Given the description of an element on the screen output the (x, y) to click on. 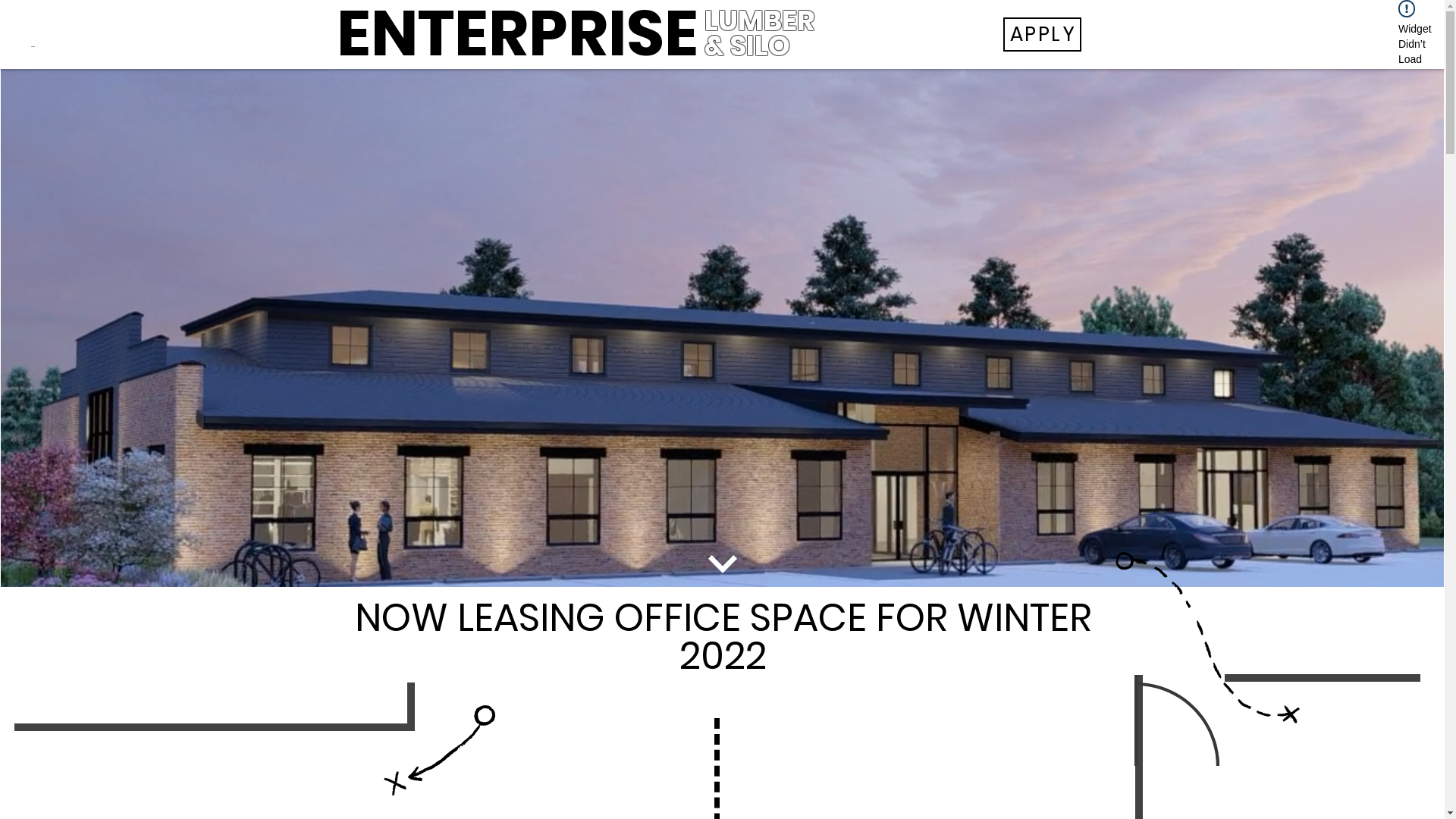
APPLY Element type: text (1041, 34)
